Given the description of an element on the screen output the (x, y) to click on. 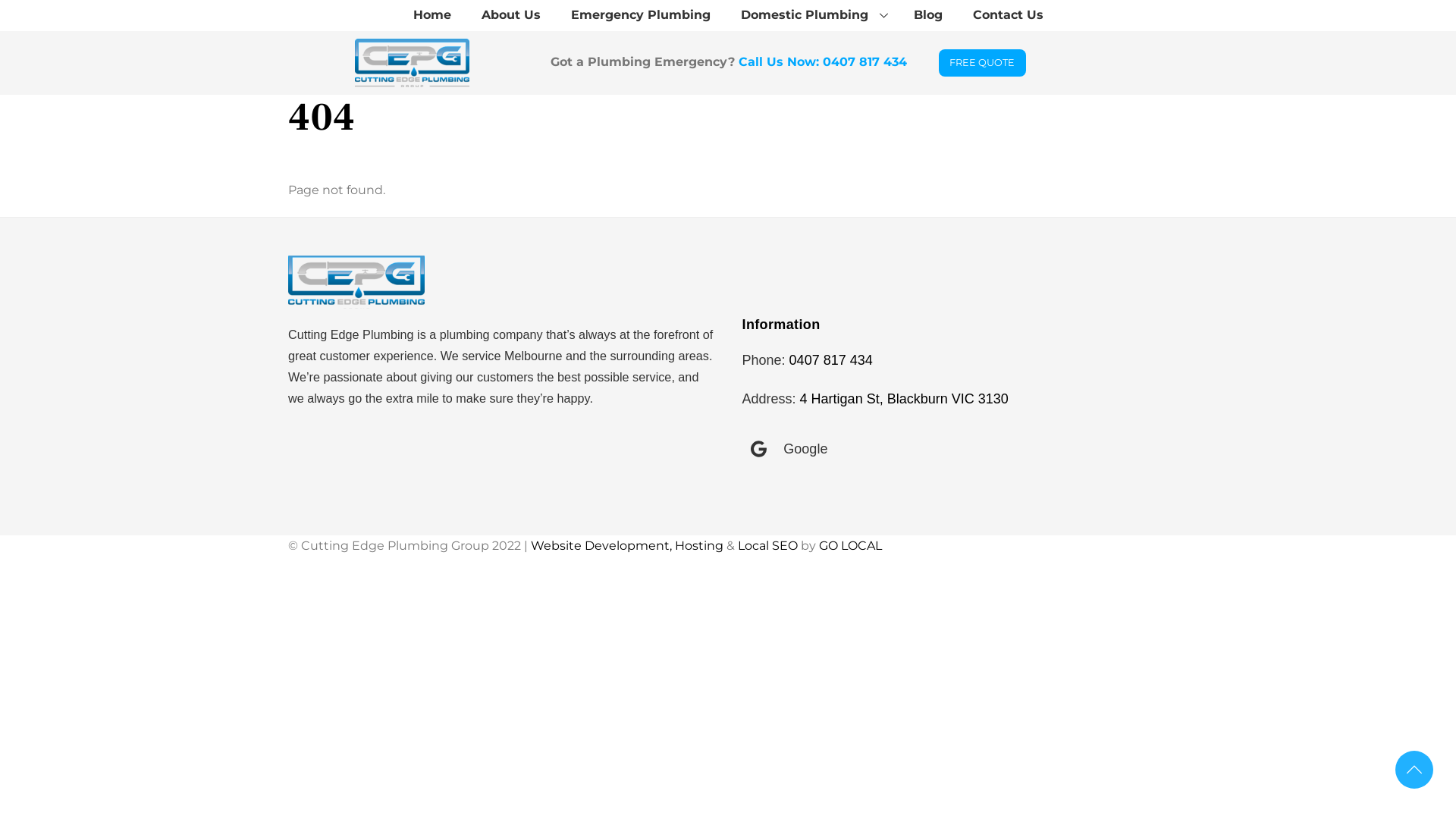
Cutting Edge Plumbing Group Element type: hover (356, 281)
Home Element type: text (431, 15)
4 Hartigan St, Blackburn VIC 3130 Element type: text (904, 398)
Domestic Plumbing Element type: text (810, 15)
Google Element type: text (789, 448)
Contact Us Element type: text (1007, 15)
Local SEO Element type: text (767, 545)
Call Us Now: 0407 817 434 Element type: text (822, 61)
GO LOCAL Element type: text (850, 545)
Cutting Edge Plumbing Group Element type: hover (411, 62)
FREE QUOTE Element type: text (982, 62)
0407 817 434 Element type: text (830, 359)
Website Development, Hosting Element type: text (626, 545)
Blog Element type: text (927, 15)
Emergency Plumbing Element type: text (639, 15)
About Us Element type: text (510, 15)
